Given the description of an element on the screen output the (x, y) to click on. 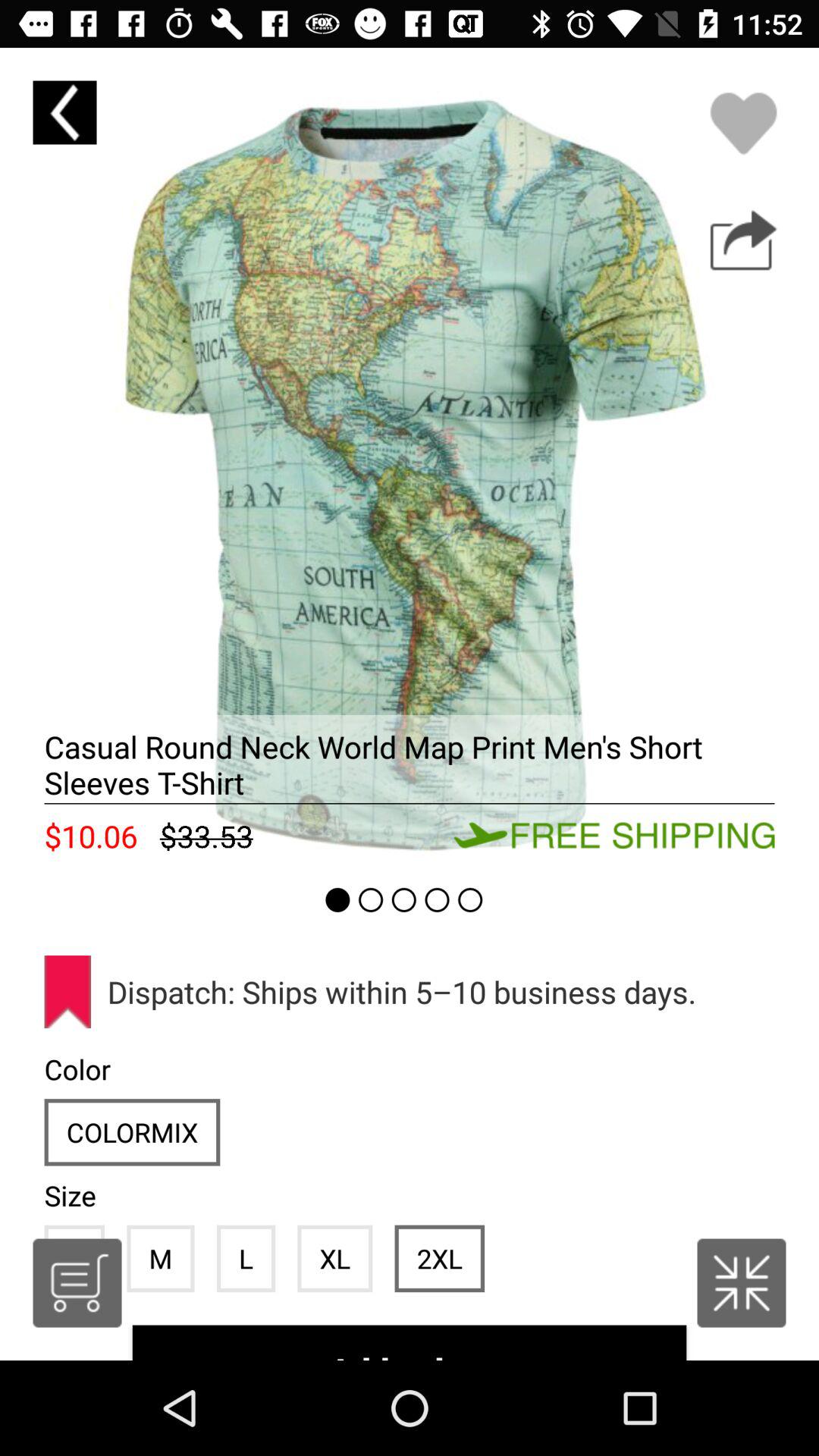
save to computer (743, 240)
